Given the description of an element on the screen output the (x, y) to click on. 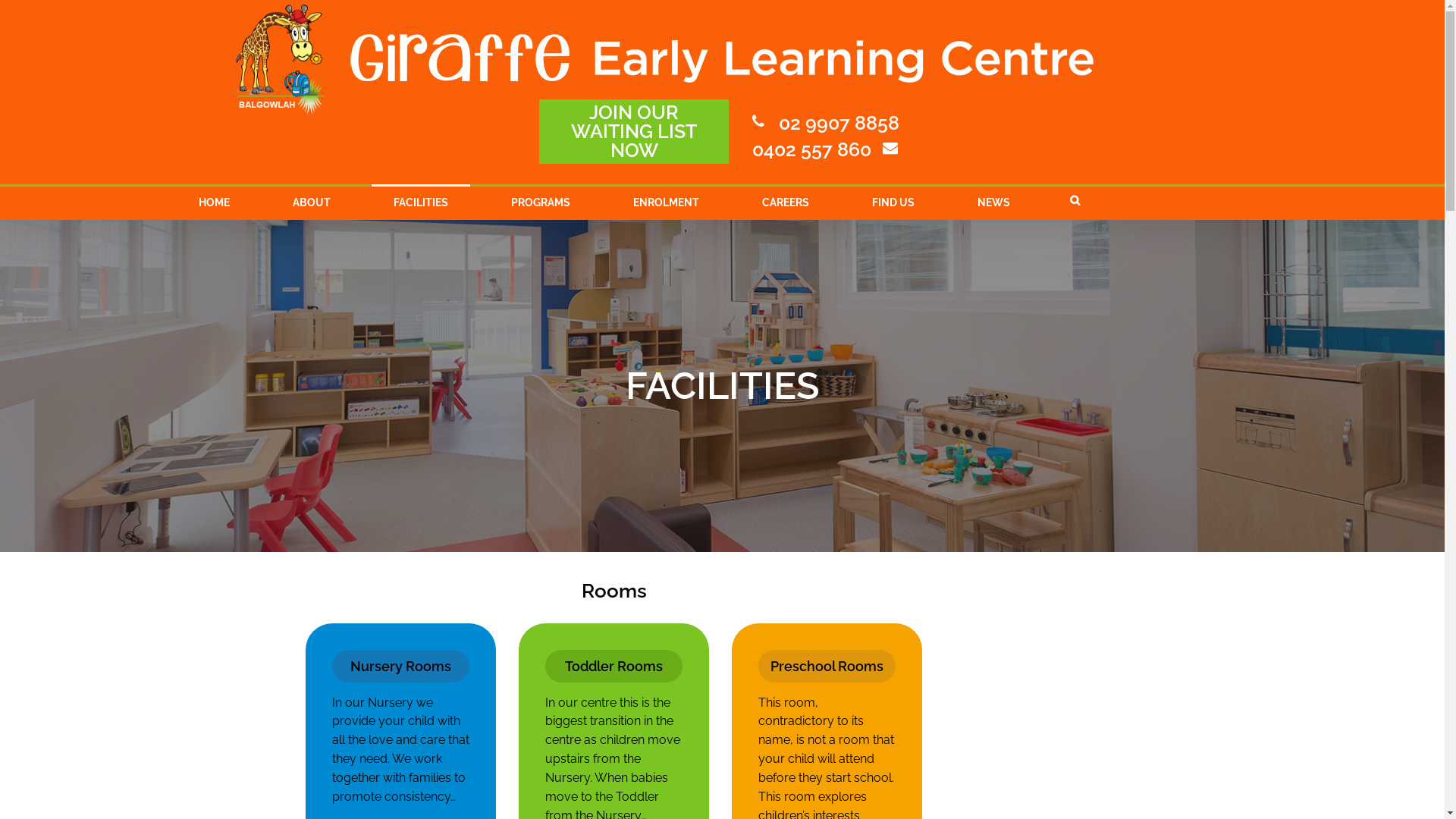
NEWS Element type: text (993, 201)
CAREERS Element type: text (785, 201)
FACILITIES Element type: text (420, 201)
JOIN OUR WAITING LIST NOW Element type: text (633, 131)
HOME Element type: text (213, 201)
ENROLMENT Element type: text (666, 201)
FIND US Element type: text (892, 201)
PROGRAMS Element type: text (539, 201)
Giraffe Early Learning Centre - Mosman Element type: hover (280, 59)
ABOUT Element type: text (310, 201)
